Given the description of an element on the screen output the (x, y) to click on. 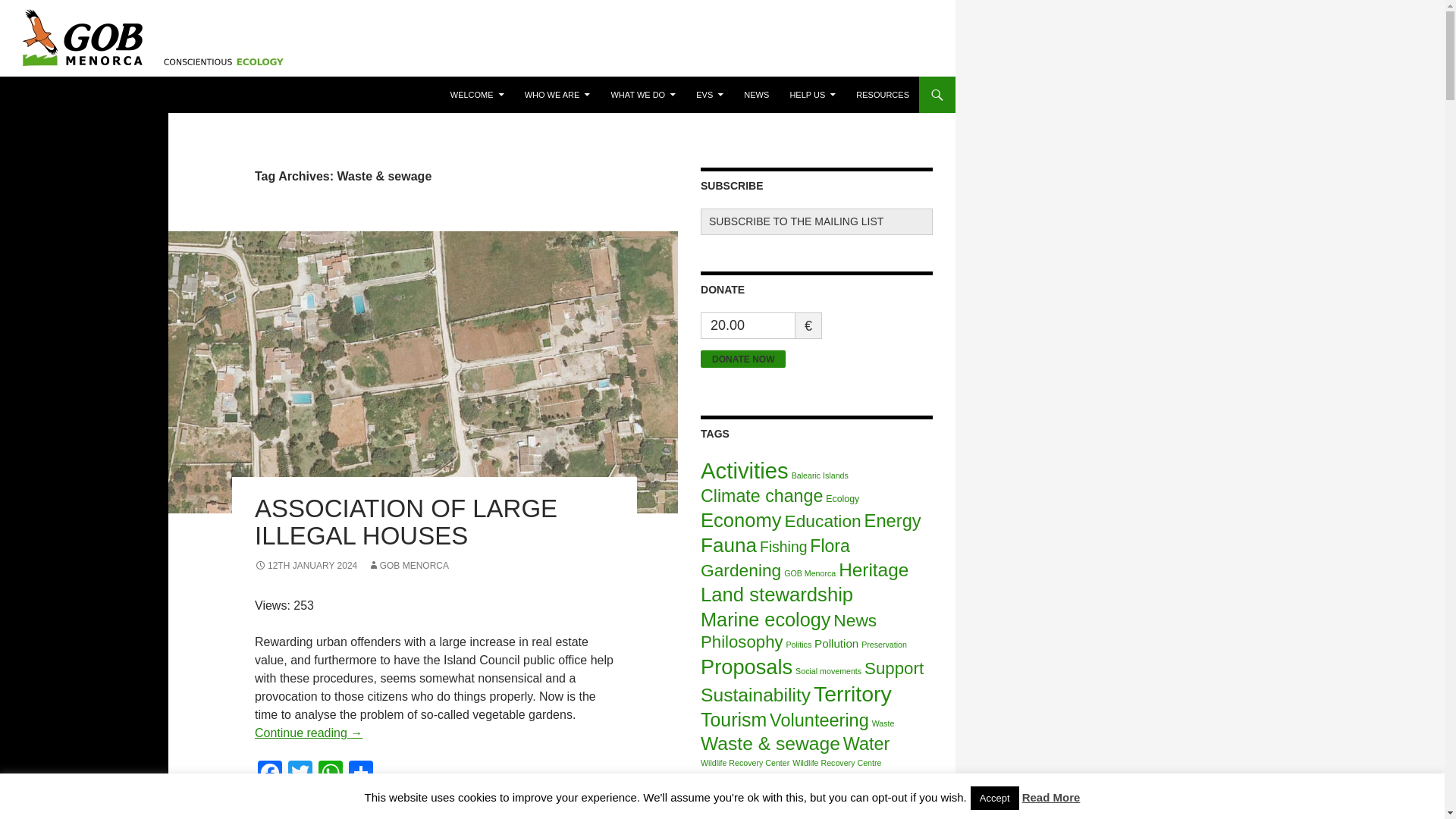
HELP US (812, 94)
WHAT WE DO (642, 94)
RESOURCES (882, 94)
GOB MENORCA (408, 565)
Facebook (269, 774)
EVS (709, 94)
GOB Menorca (68, 94)
Twitter (300, 774)
12TH JANUARY 2024 (305, 565)
NEWS (756, 94)
ASSOCIATION OF LARGE ILLEGAL HOUSES (405, 521)
20.00 (747, 325)
WhatsApp (330, 774)
